Given the description of an element on the screen output the (x, y) to click on. 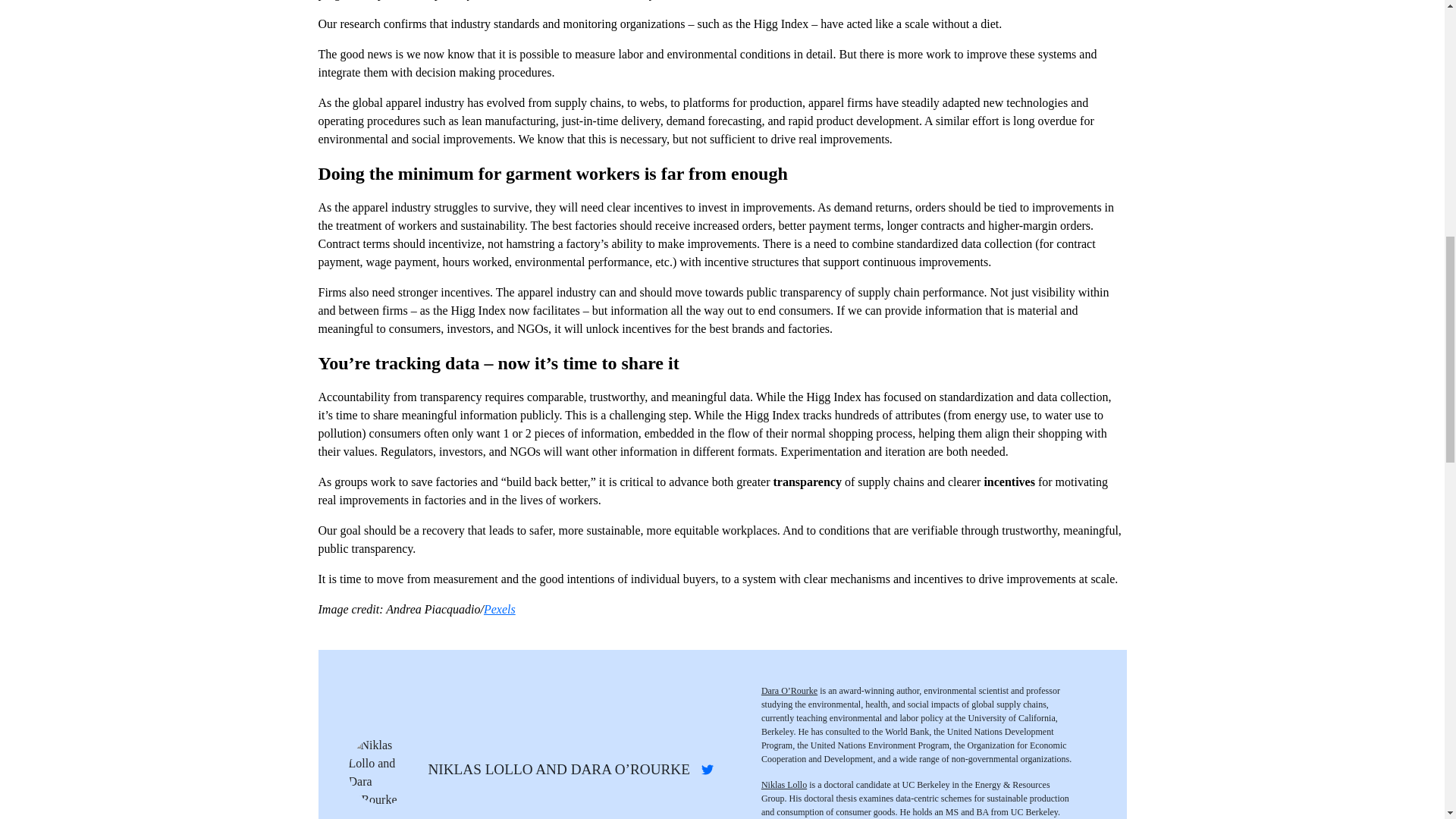
Pexels (499, 608)
Niklas Lollo (783, 784)
